Given the description of an element on the screen output the (x, y) to click on. 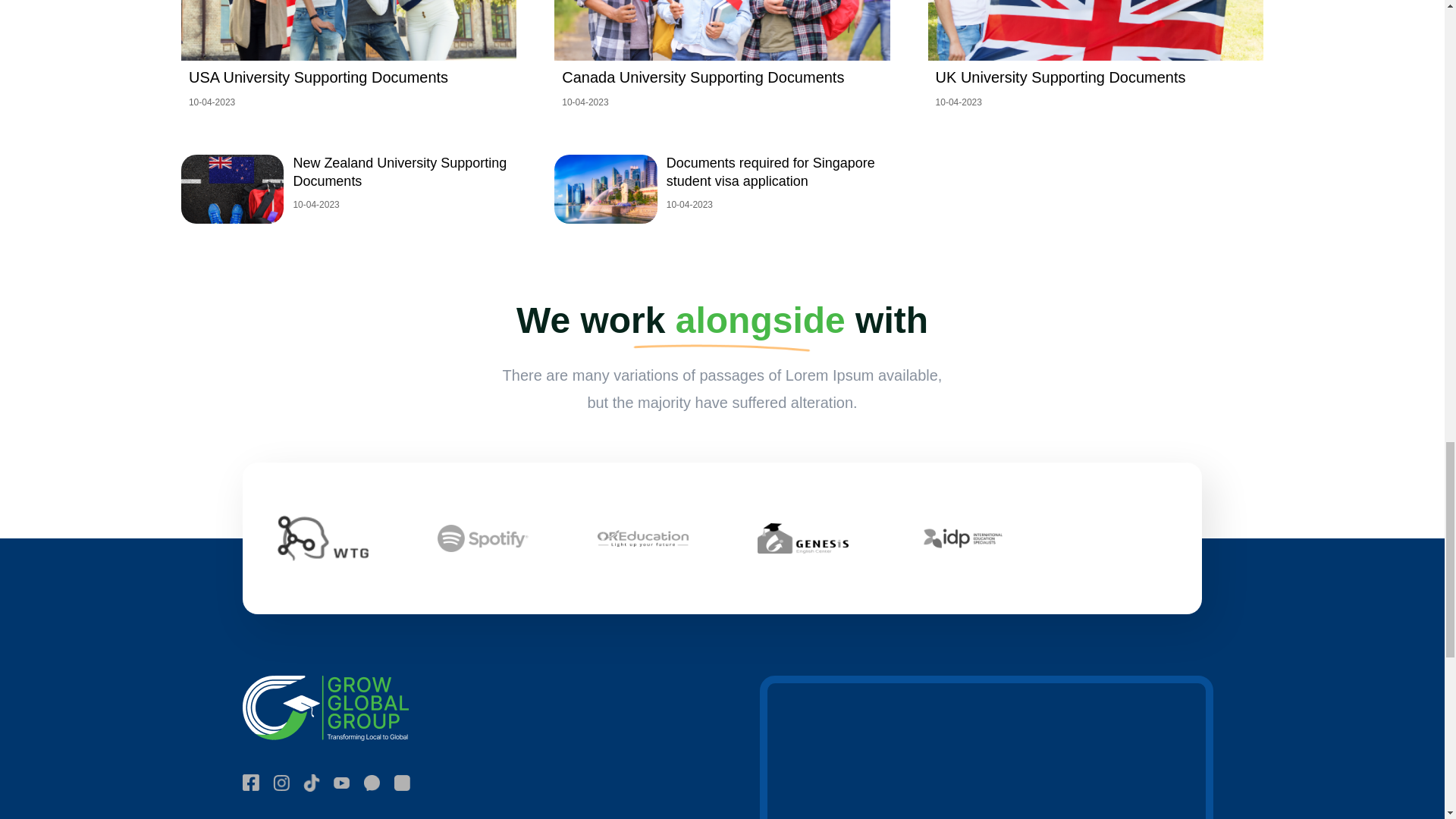
New Zealand University Supporting Documents (231, 219)
Canada University Supporting Documents (721, 30)
USA University Supporting Documents (318, 76)
UK University Supporting Documents (1061, 76)
Canada University Supporting Documents (703, 76)
USA University Supporting Documents (348, 30)
Documents required for Singapore student visa application (605, 219)
UK University Supporting Documents (1095, 30)
